Given the description of an element on the screen output the (x, y) to click on. 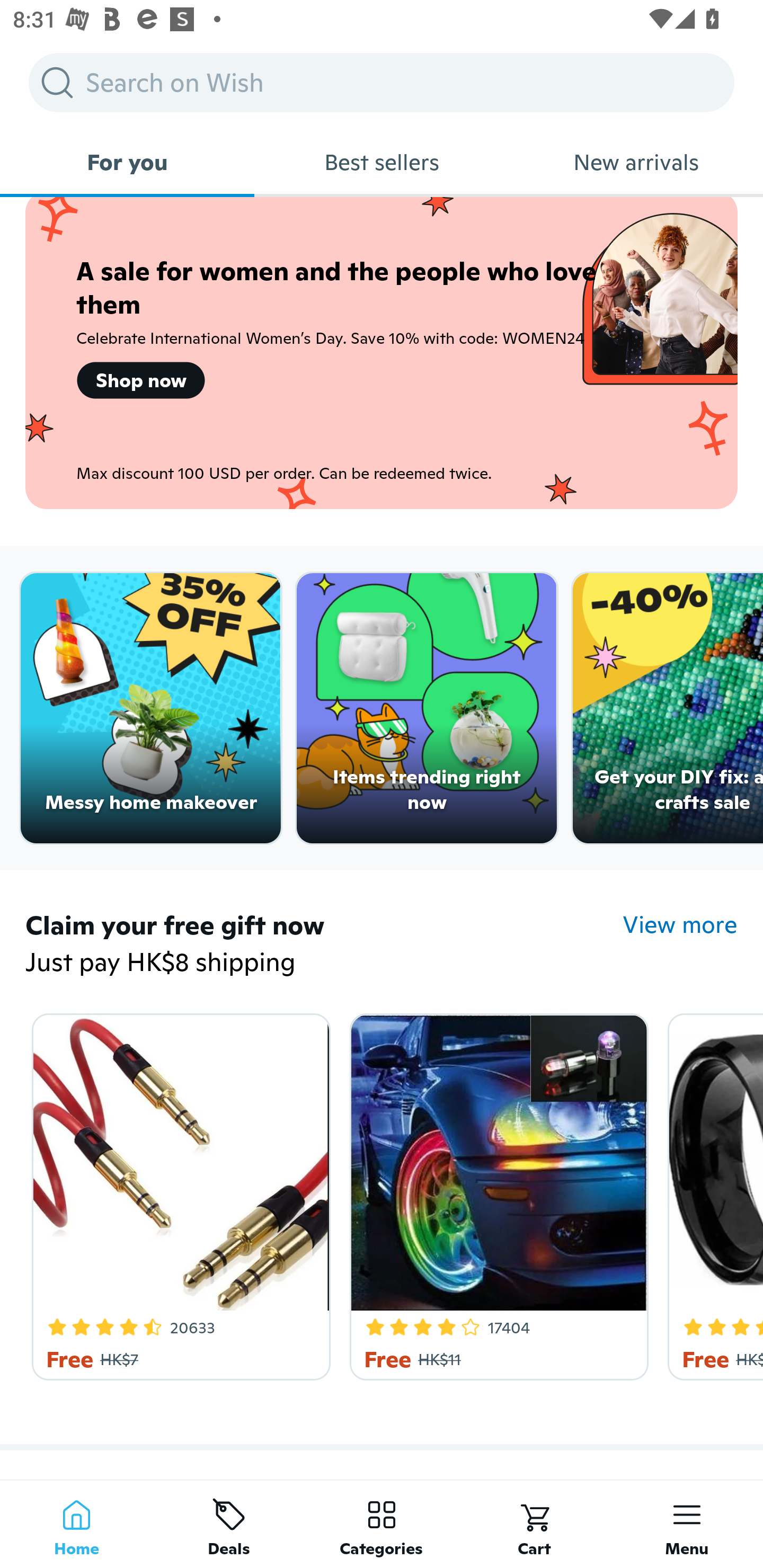
Search on Wish (381, 82)
For you (127, 161)
Best sellers (381, 161)
New arrivals (635, 161)
Messy home makeover (150, 708)
Items trending right now (426, 708)
Get your DIY fix: arts & crafts sale (668, 708)
Claim your free gift now
Just pay HK$8 shipping (323, 944)
View more (679, 923)
4.3 Star Rating 20633 Free HK$7 (177, 1192)
3.8 Star Rating 17404 Free HK$11 (495, 1192)
Home (76, 1523)
Deals (228, 1523)
Categories (381, 1523)
Cart (533, 1523)
Menu (686, 1523)
